Given the description of an element on the screen output the (x, y) to click on. 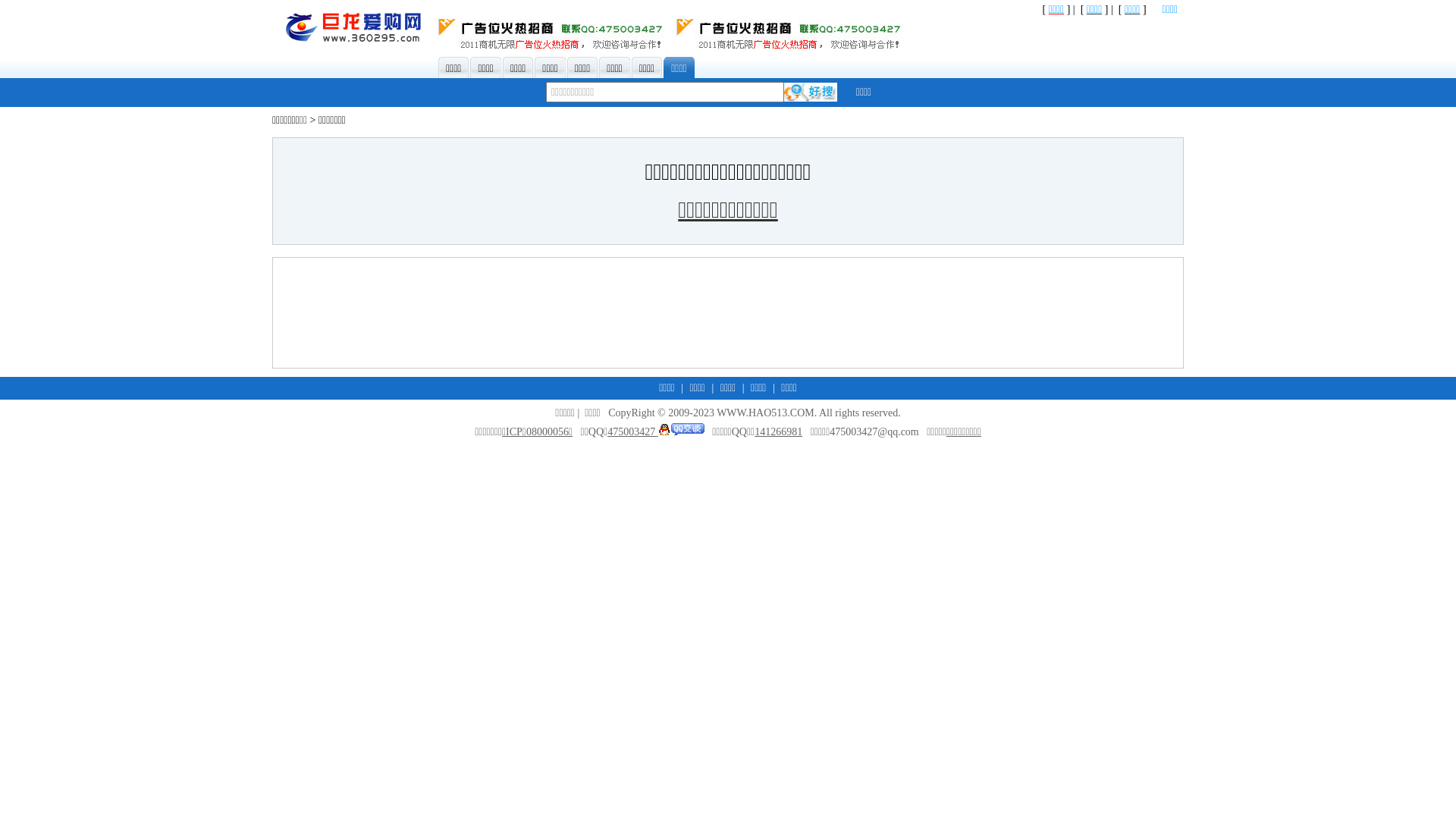
141266981 Element type: text (778, 431)
475003427 Element type: text (655, 431)
